Given the description of an element on the screen output the (x, y) to click on. 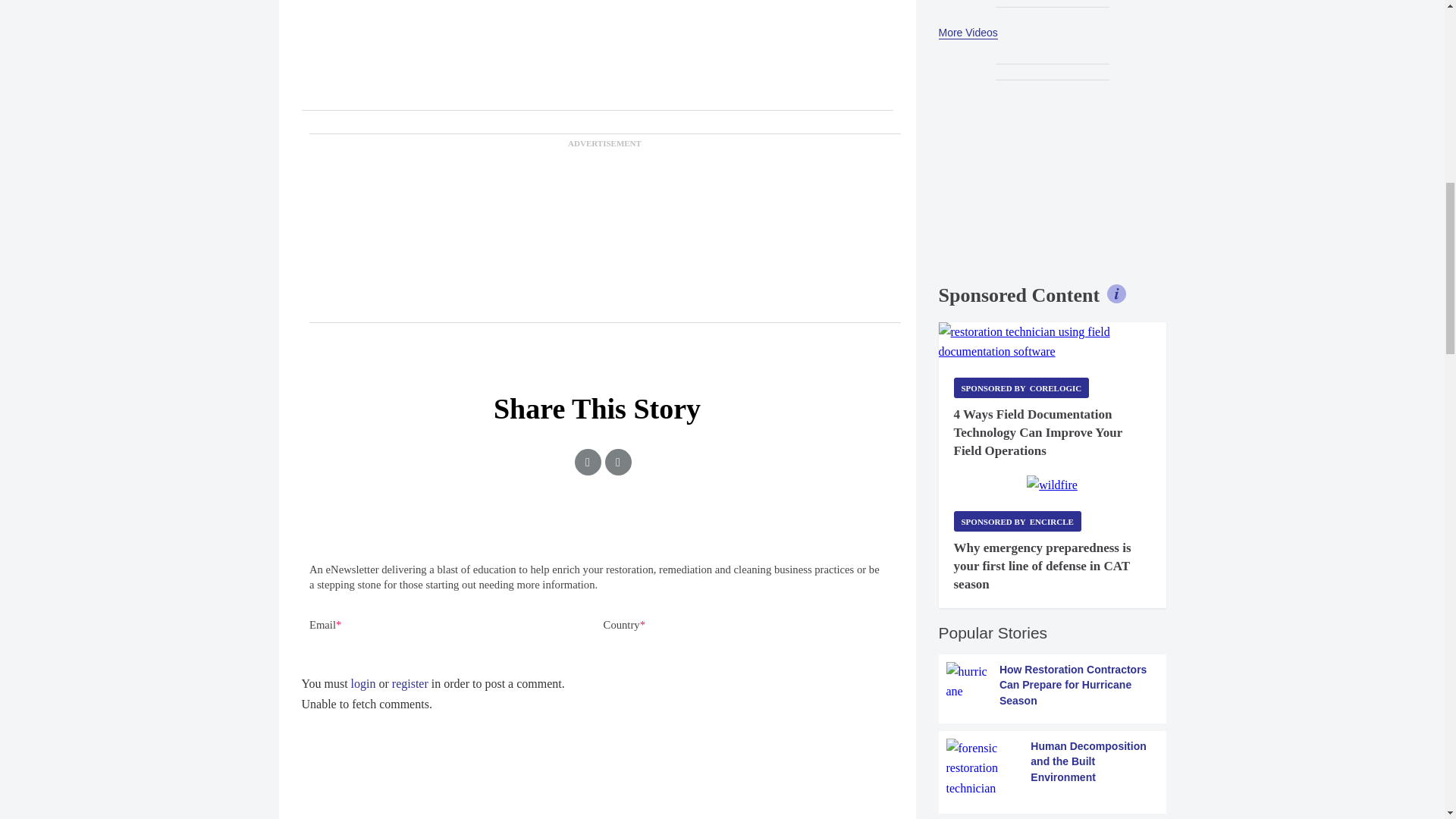
Interaction questions (597, 581)
Human Decomposition and the Built Environment (1052, 768)
Sponsored by CoreLogic (1021, 387)
wildfire (1051, 485)
restoration technician using field documentation software (1052, 342)
Sponsored by Encircle (1017, 521)
